Given the description of an element on the screen output the (x, y) to click on. 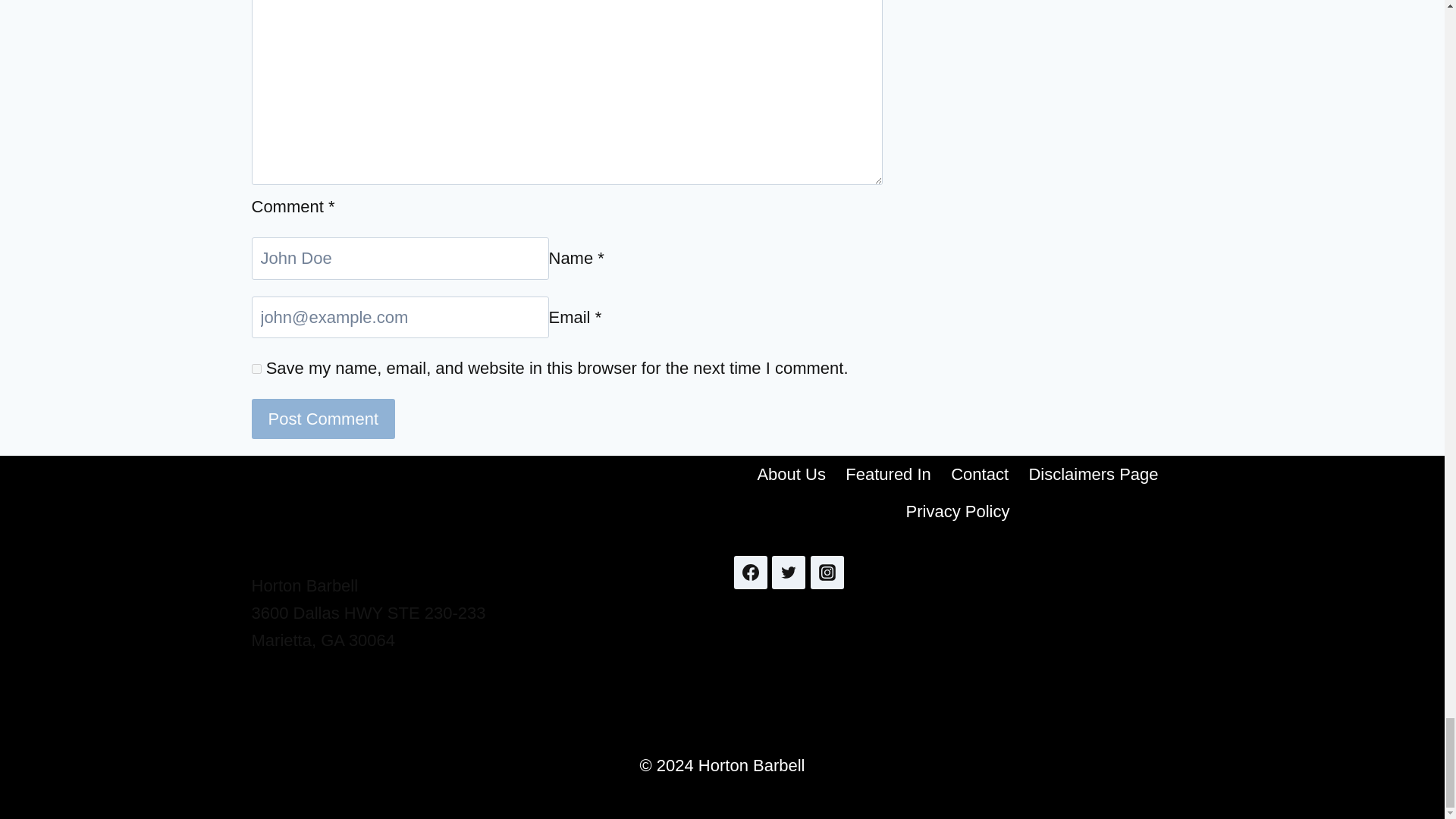
yes (256, 368)
Post Comment (323, 418)
